Given the description of an element on the screen output the (x, y) to click on. 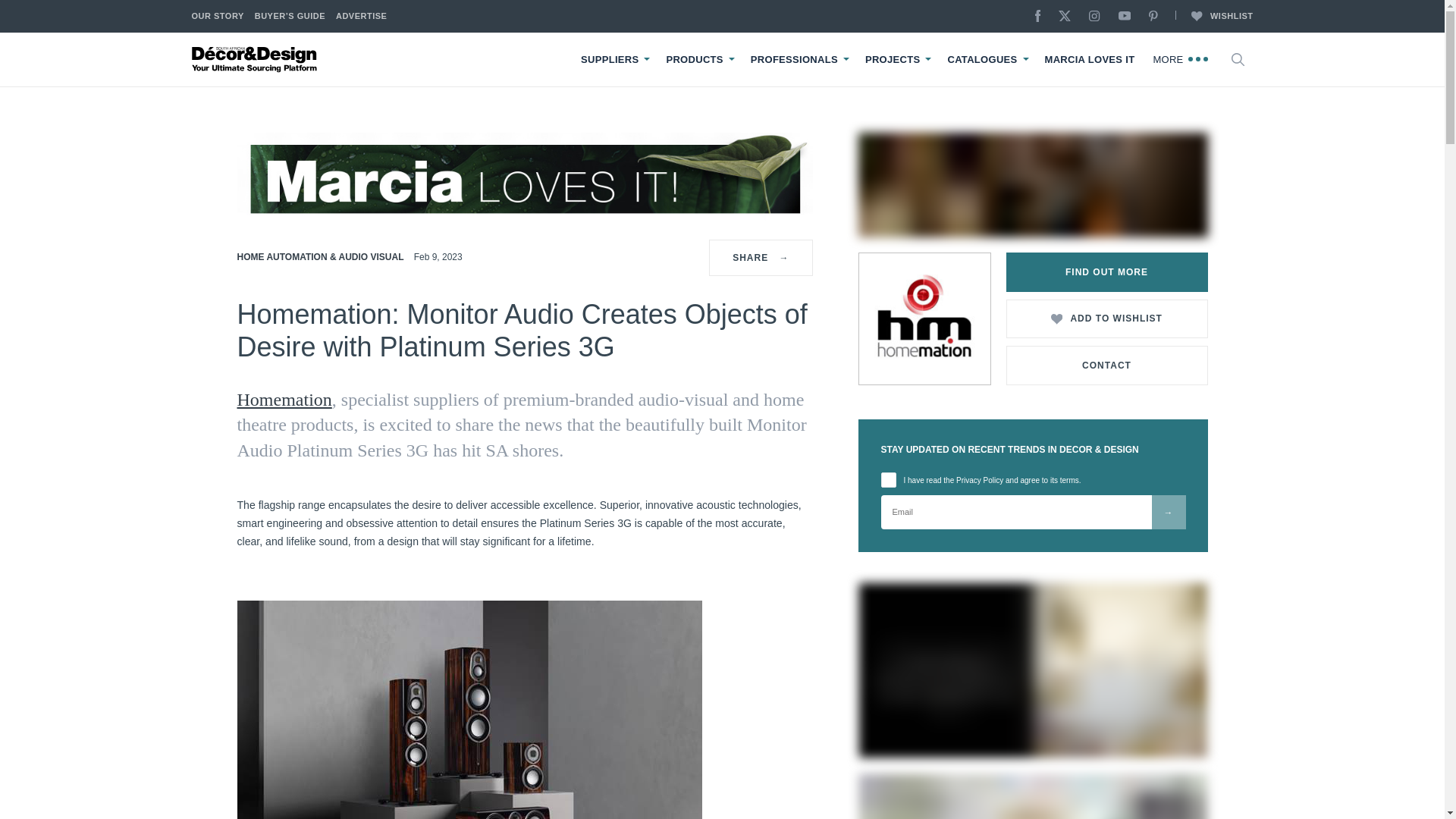
WISHLIST (1213, 16)
SUPPLIERS (609, 60)
OUR STORY (216, 16)
Logo (255, 58)
ADVERTISE (361, 16)
